Given the description of an element on the screen output the (x, y) to click on. 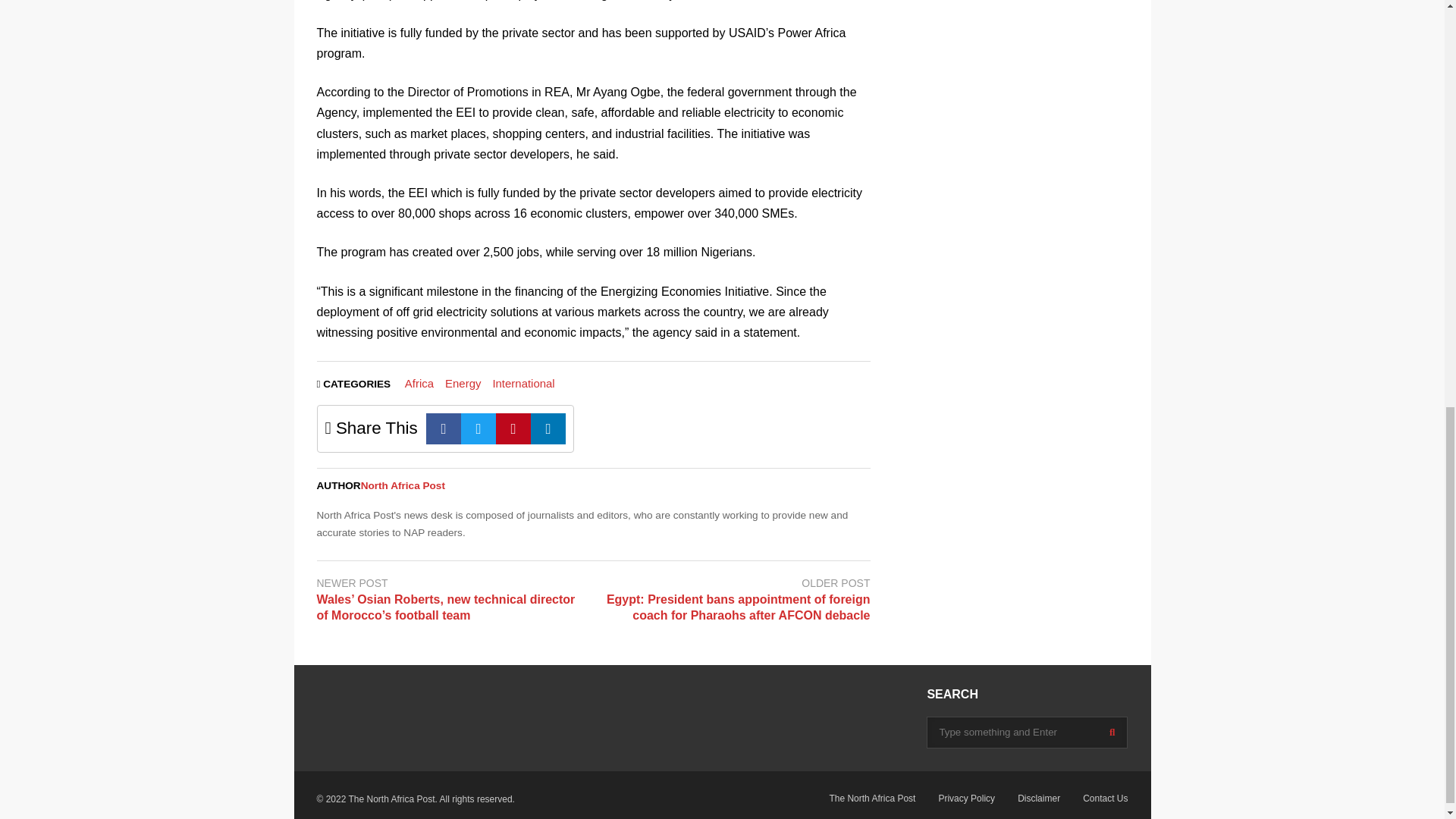
Pinterest (513, 428)
Twitter (478, 428)
Facebook (443, 428)
Linkedin (548, 428)
